Given the description of an element on the screen output the (x, y) to click on. 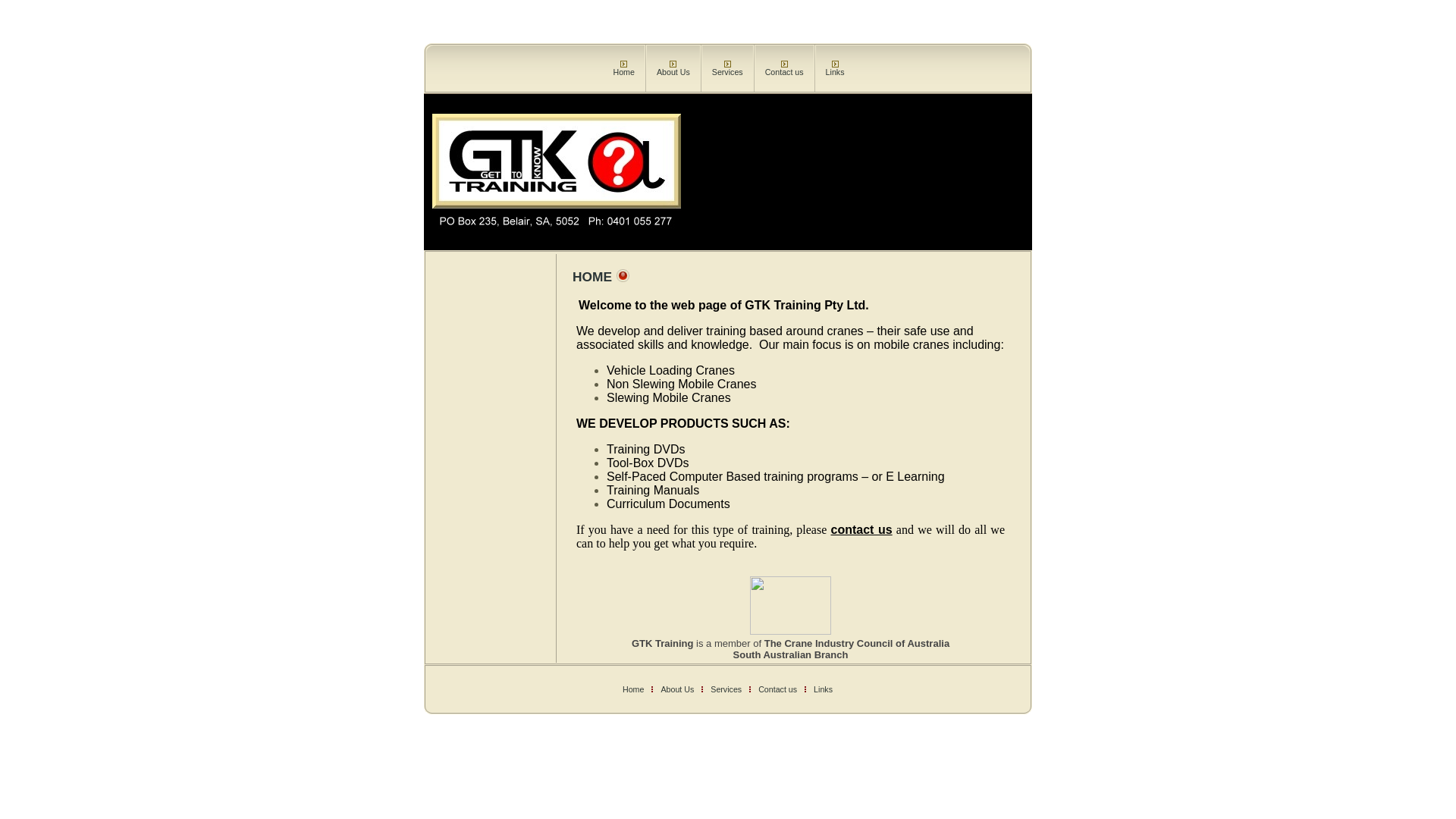
About Us Element type: text (676, 688)
About Us Element type: text (673, 70)
contact us Element type: text (860, 530)
Home Element type: text (632, 688)
Links Element type: text (822, 688)
Contact us Element type: text (784, 70)
Services Element type: text (725, 688)
Links Element type: text (834, 70)
Home Element type: text (622, 70)
Services Element type: text (727, 70)
Contact us Element type: text (777, 688)
